Given the description of an element on the screen output the (x, y) to click on. 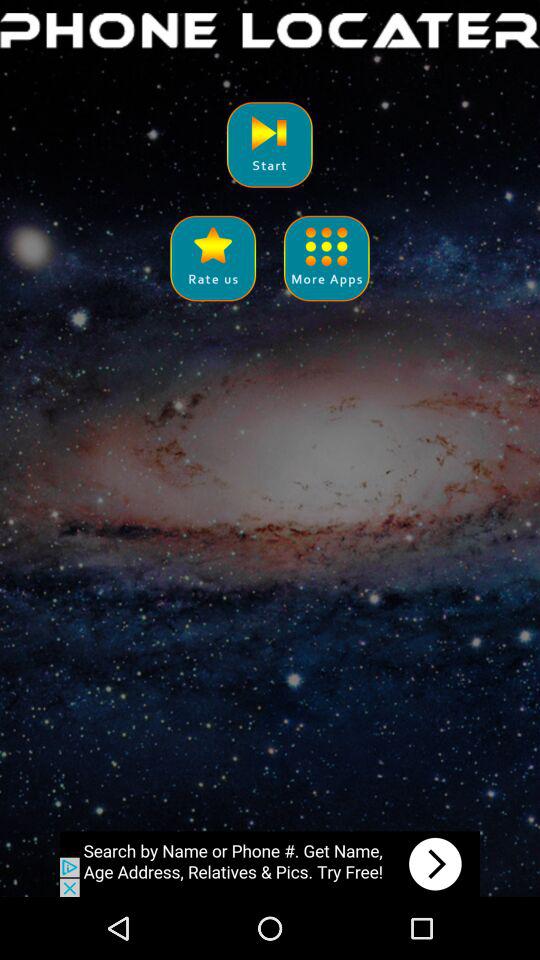
go to more apps (326, 258)
